Given the description of an element on the screen output the (x, y) to click on. 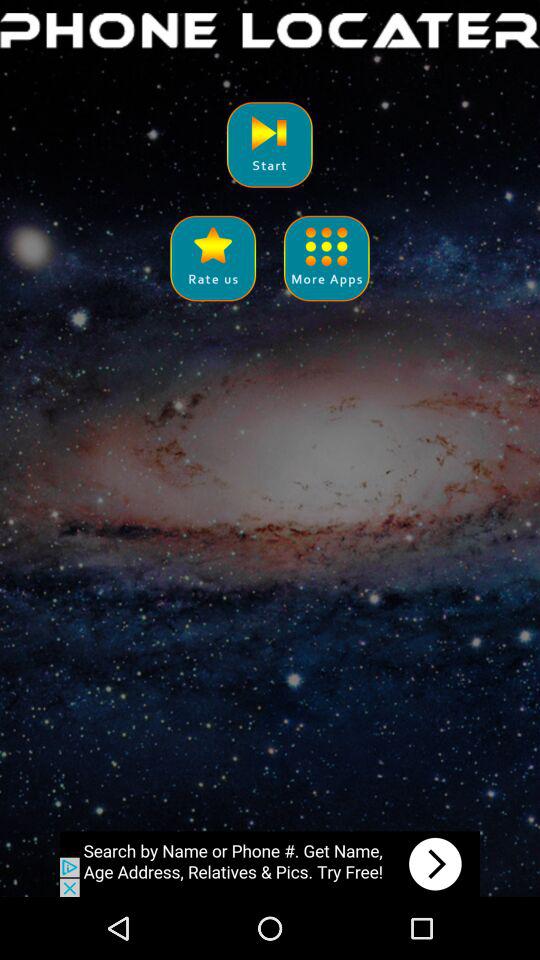
go to more apps (326, 258)
